Given the description of an element on the screen output the (x, y) to click on. 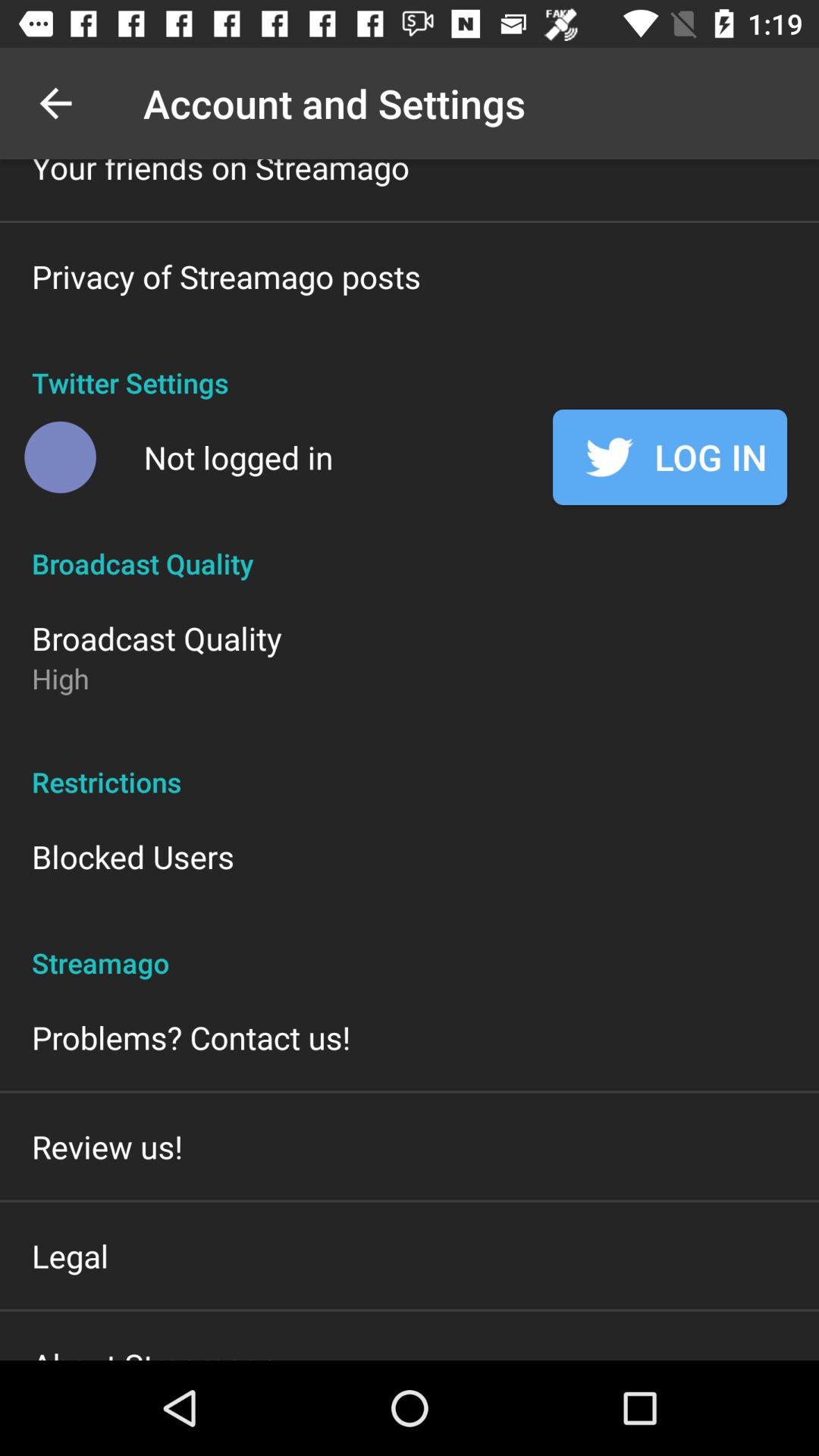
press the log in at the top right corner (669, 457)
